Given the description of an element on the screen output the (x, y) to click on. 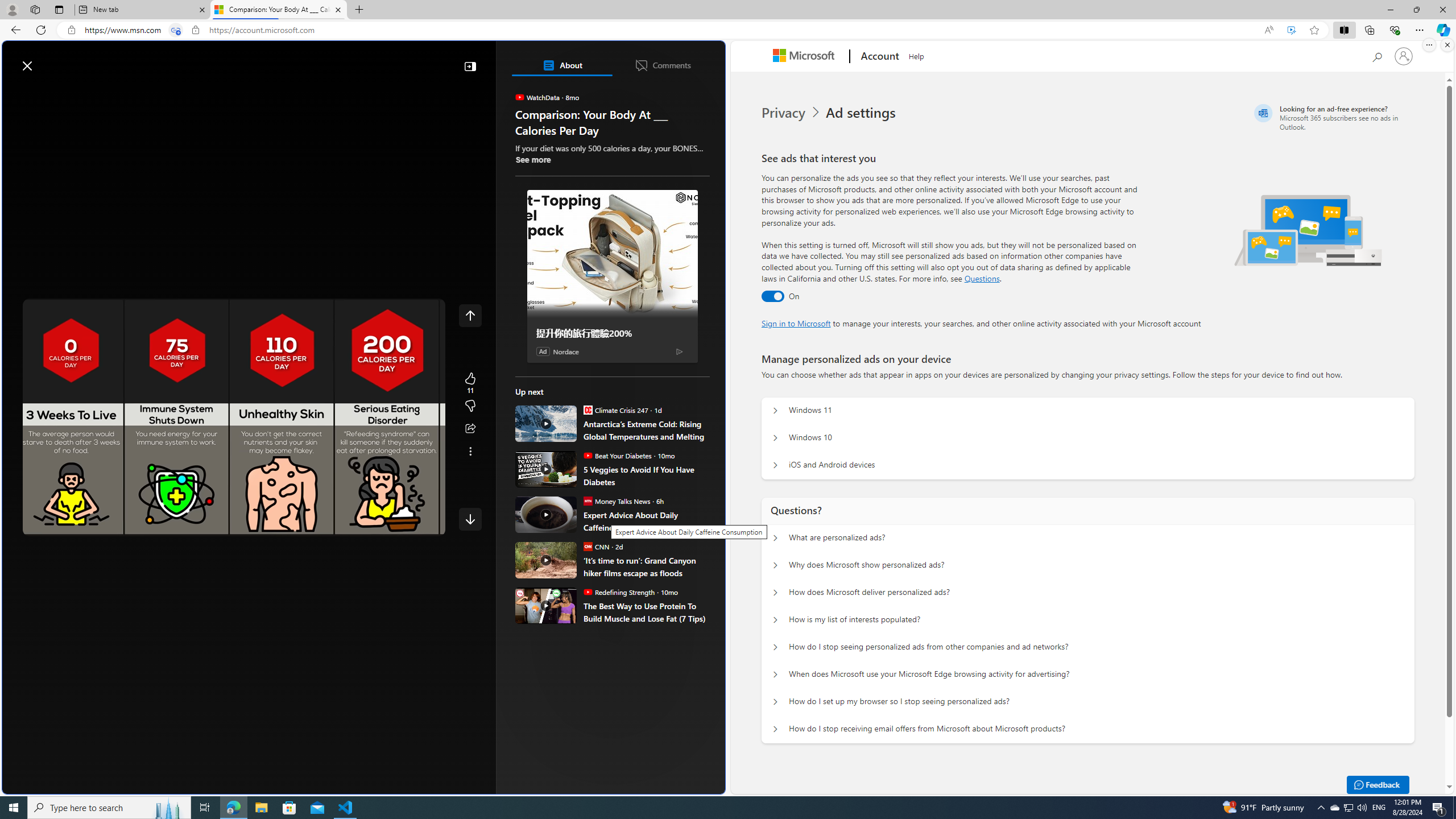
Class: ytp-subtitles-button-icon (343, 525)
Dislike (469, 405)
CNN CNN (596, 546)
Following (98, 92)
Watch (141, 92)
ABC News (554, 415)
Feedback (681, 784)
Open navigation menu (16, 92)
Open Copilot (566, 59)
